Given the description of an element on the screen output the (x, y) to click on. 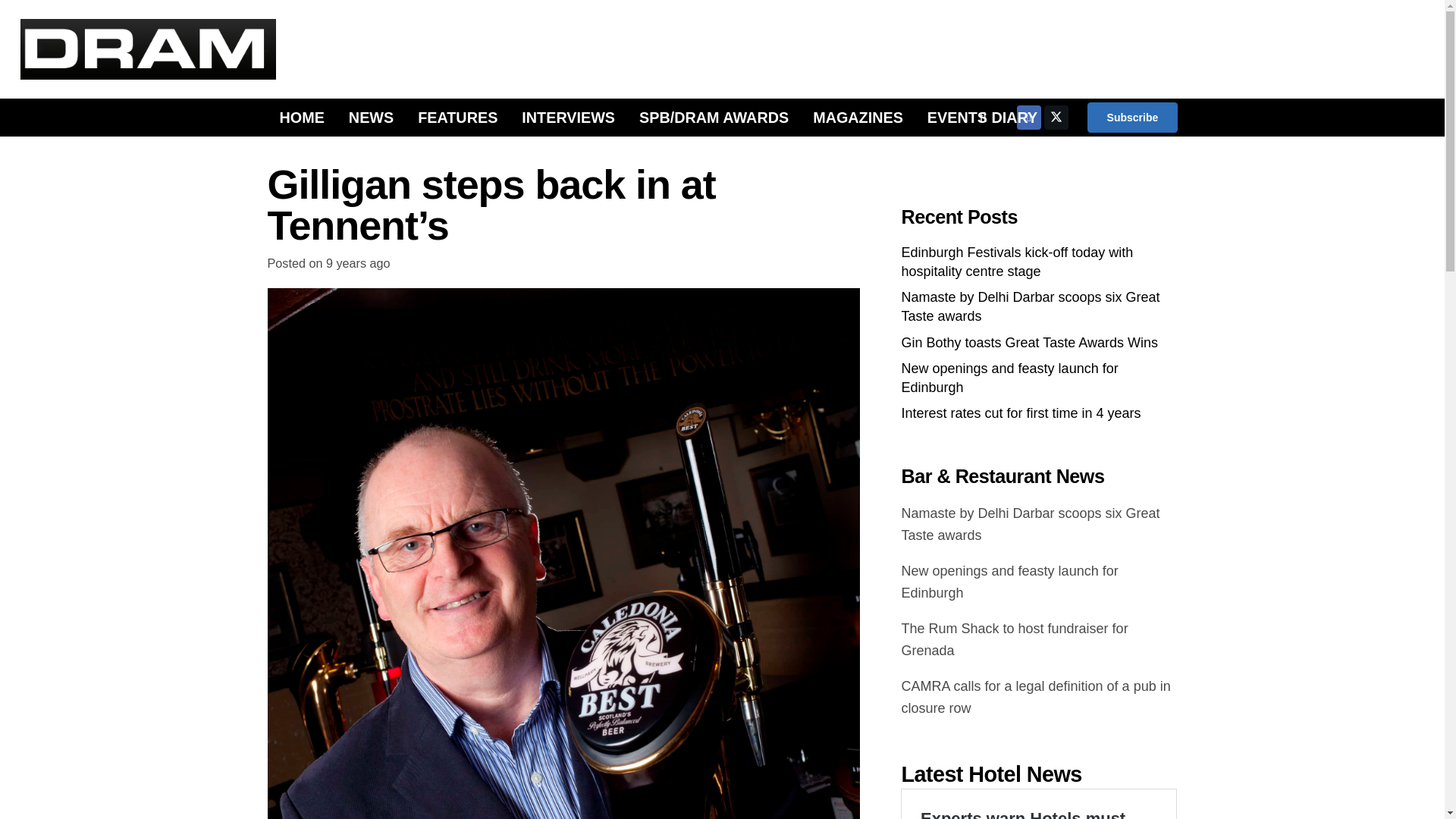
NEWS (371, 117)
Twitter (1055, 117)
Facebook (1028, 117)
EVENTS DIARY (982, 117)
MAGAZINES (857, 117)
INTERVIEWS (568, 117)
HOME (301, 117)
Subscribe (1131, 116)
FEATURES (457, 117)
